Given the description of an element on the screen output the (x, y) to click on. 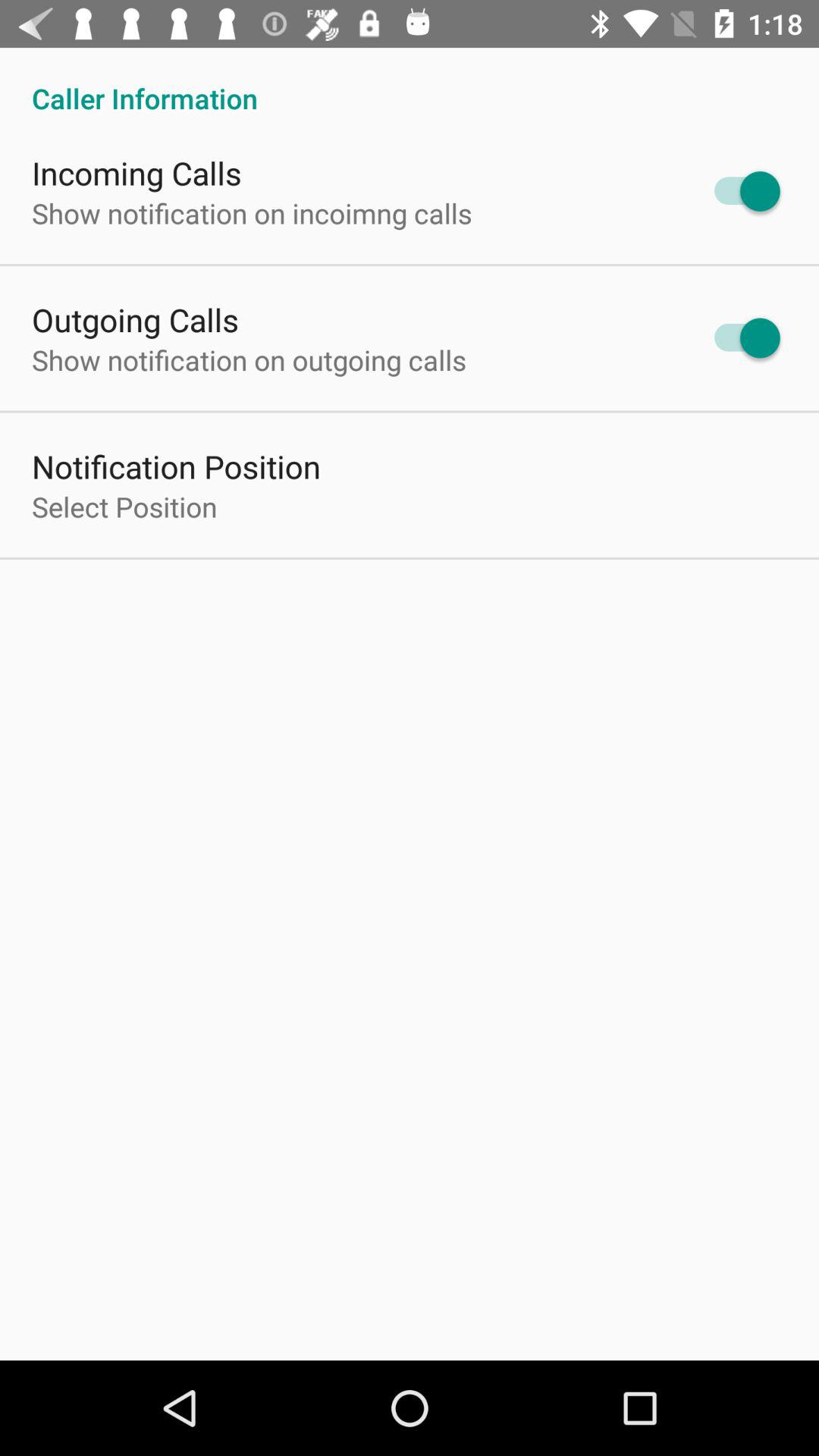
choose the caller information icon (409, 82)
